Given the description of an element on the screen output the (x, y) to click on. 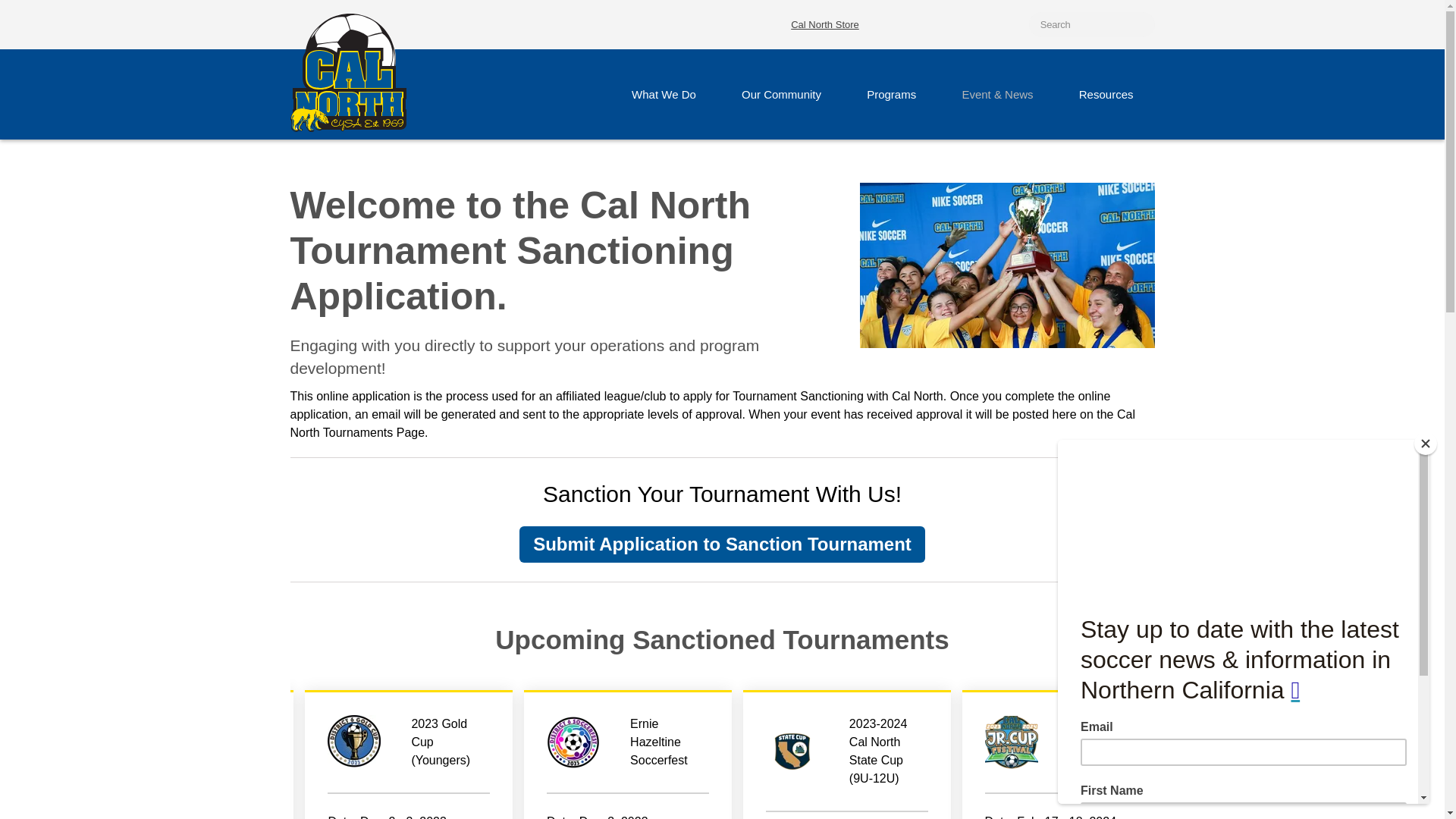
Submit Application to Sanction Tournament (721, 544)
Cal North a Community and Kid First Organization (347, 72)
Cal North Store (824, 24)
Our Community (781, 94)
What We Do (663, 94)
